Given the description of an element on the screen output the (x, y) to click on. 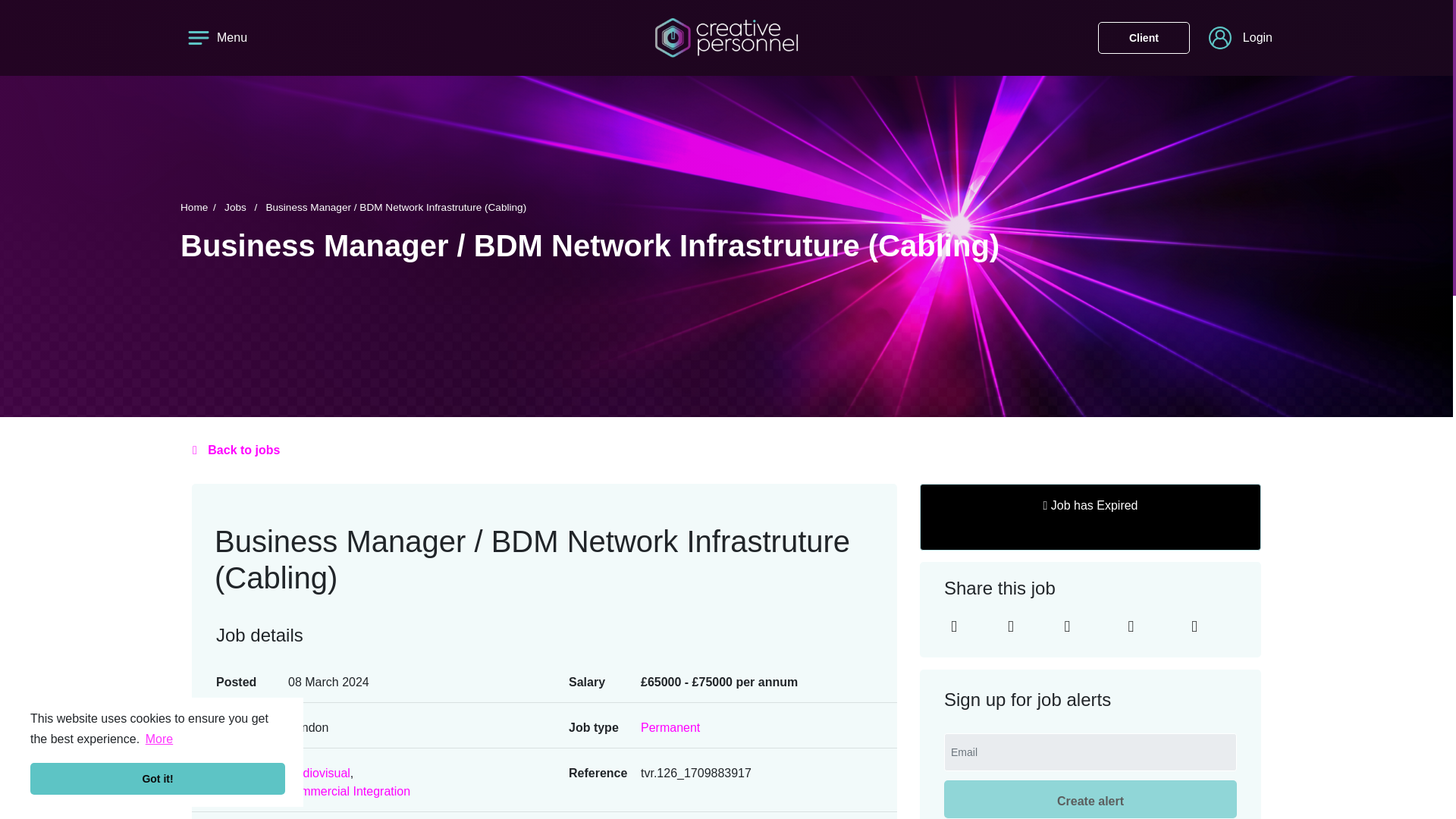
Client (1143, 38)
Audiovisual (319, 773)
More (159, 739)
Permanent (670, 728)
Menu (213, 37)
Menu (213, 37)
Home (200, 206)
Login (1240, 37)
Back to jobs (726, 450)
Got it! (157, 778)
Jobs (243, 206)
Go to the Homepage (725, 36)
Creative Personnel (725, 37)
